Given the description of an element on the screen output the (x, y) to click on. 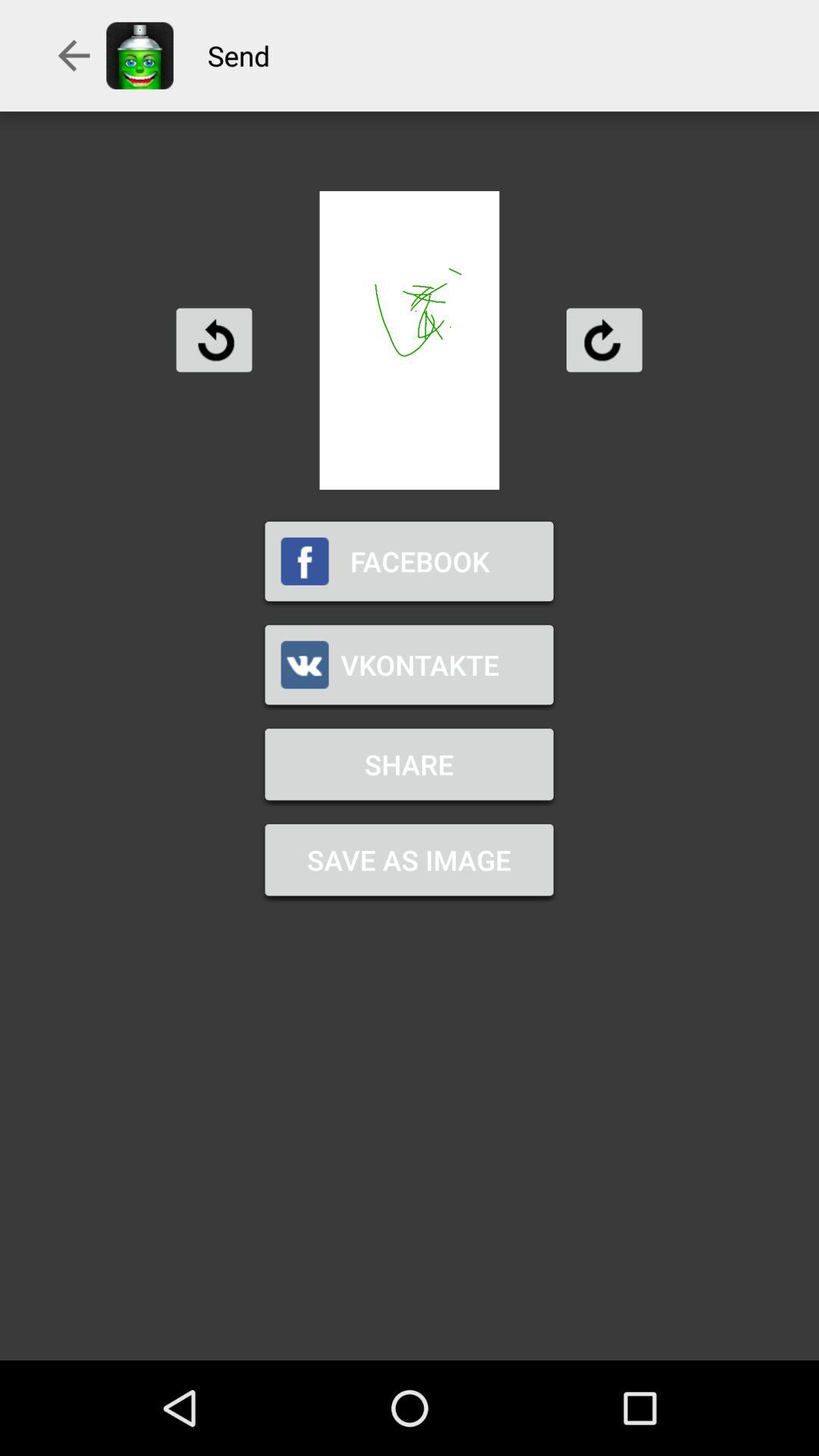
redo (604, 339)
